Given the description of an element on the screen output the (x, y) to click on. 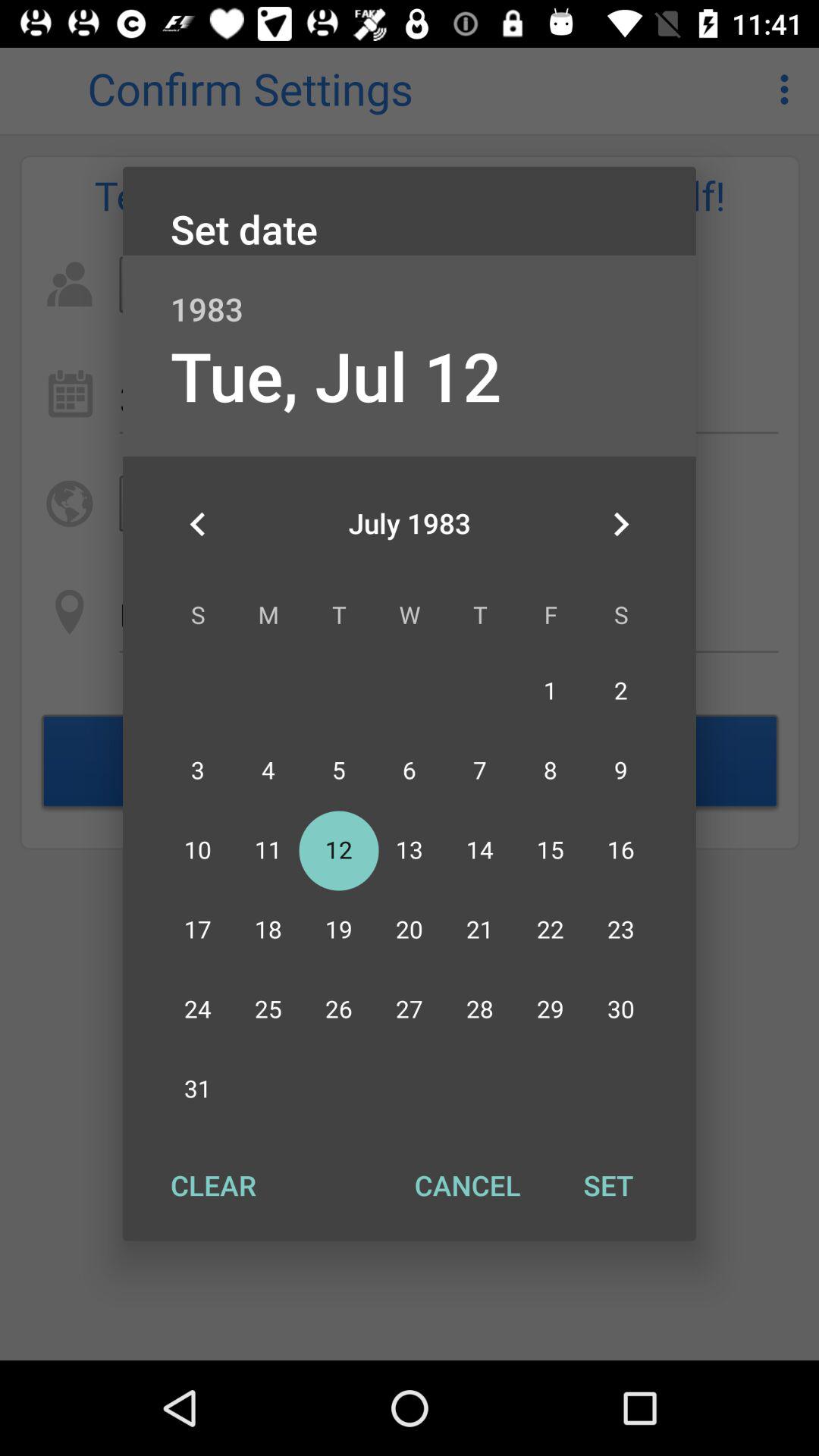
swipe until cancel item (467, 1185)
